Given the description of an element on the screen output the (x, y) to click on. 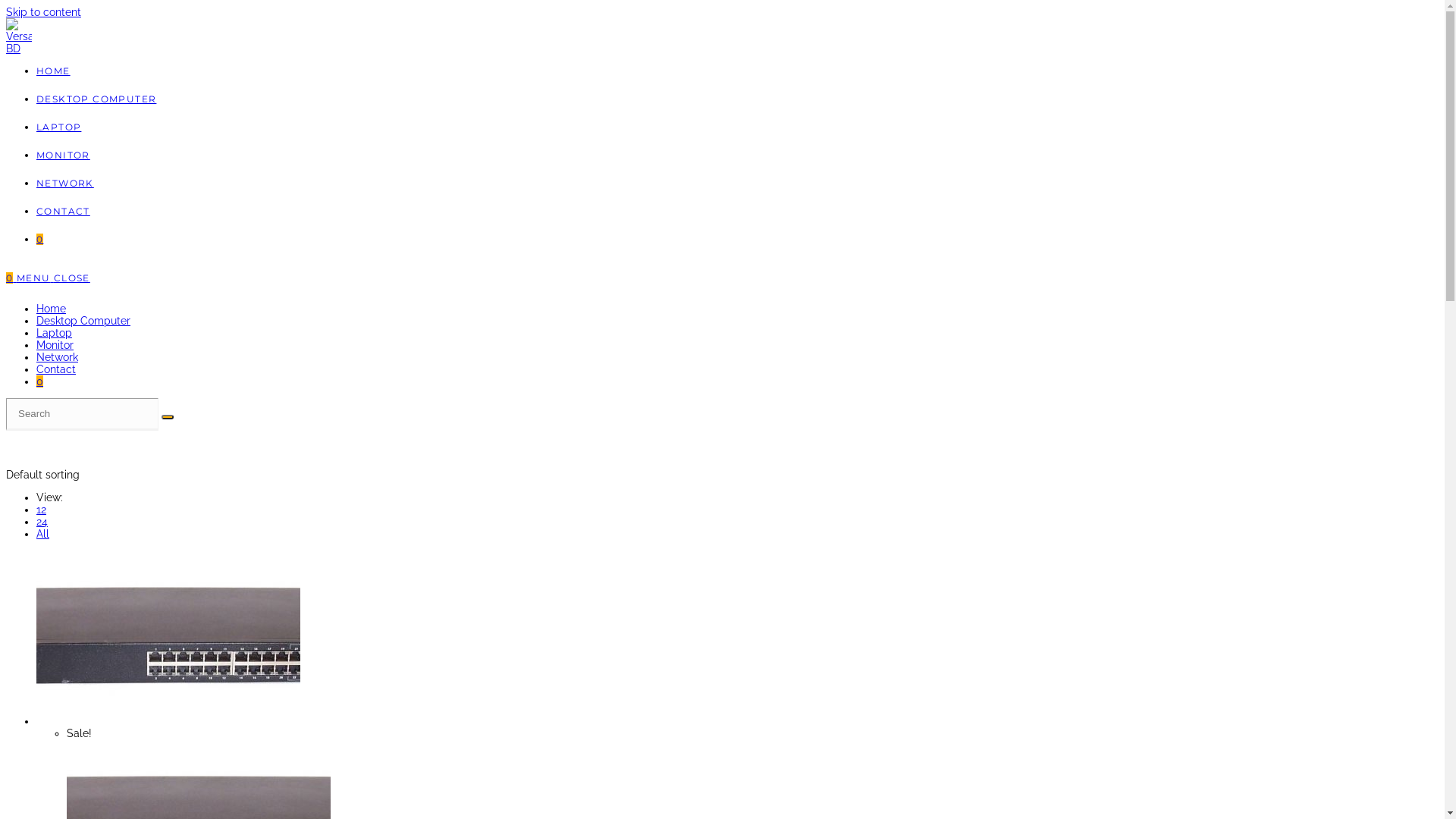
0 Element type: text (39, 238)
Contact Element type: text (55, 369)
Skip to content Element type: text (43, 12)
Network Element type: text (57, 357)
All Element type: text (42, 533)
Home Element type: text (50, 308)
24 Element type: text (41, 521)
MENU CLOSE Element type: text (53, 277)
0 Element type: text (11, 277)
NETWORK Element type: text (65, 182)
HOME Element type: text (53, 70)
CONTACT Element type: text (63, 210)
Desktop Computer Element type: text (83, 320)
DESKTOP COMPUTER Element type: text (96, 98)
Monitor Element type: text (54, 344)
12 Element type: text (41, 509)
Laptop Element type: text (54, 332)
LAPTOP Element type: text (58, 126)
0 Element type: text (39, 381)
MONITOR Element type: text (63, 154)
